Given the description of an element on the screen output the (x, y) to click on. 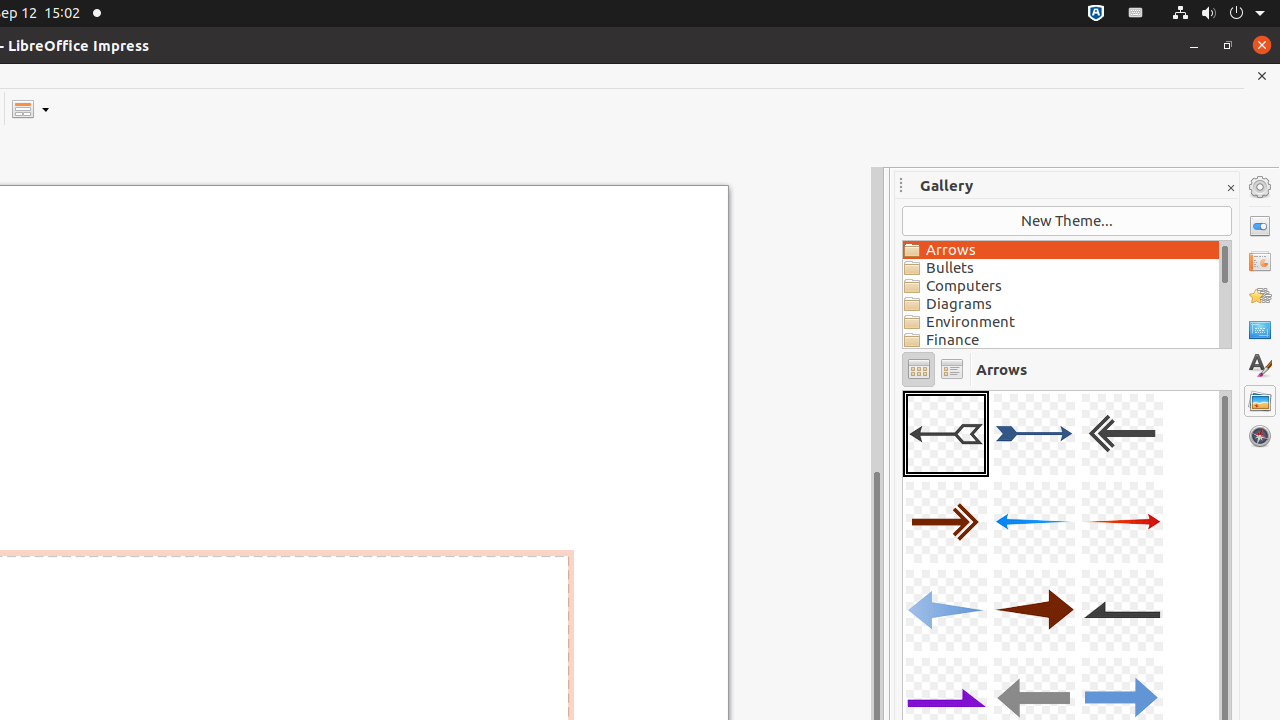
Environment Element type: list-item (1061, 322)
:1.21/StatusNotifierItem Element type: menu (1136, 13)
:1.72/StatusNotifierItem Element type: menu (1096, 13)
Arrows Element type: list-item (1061, 249)
A07-Arrow-LightBlue-Left Element type: list-item (946, 610)
